Given the description of an element on the screen output the (x, y) to click on. 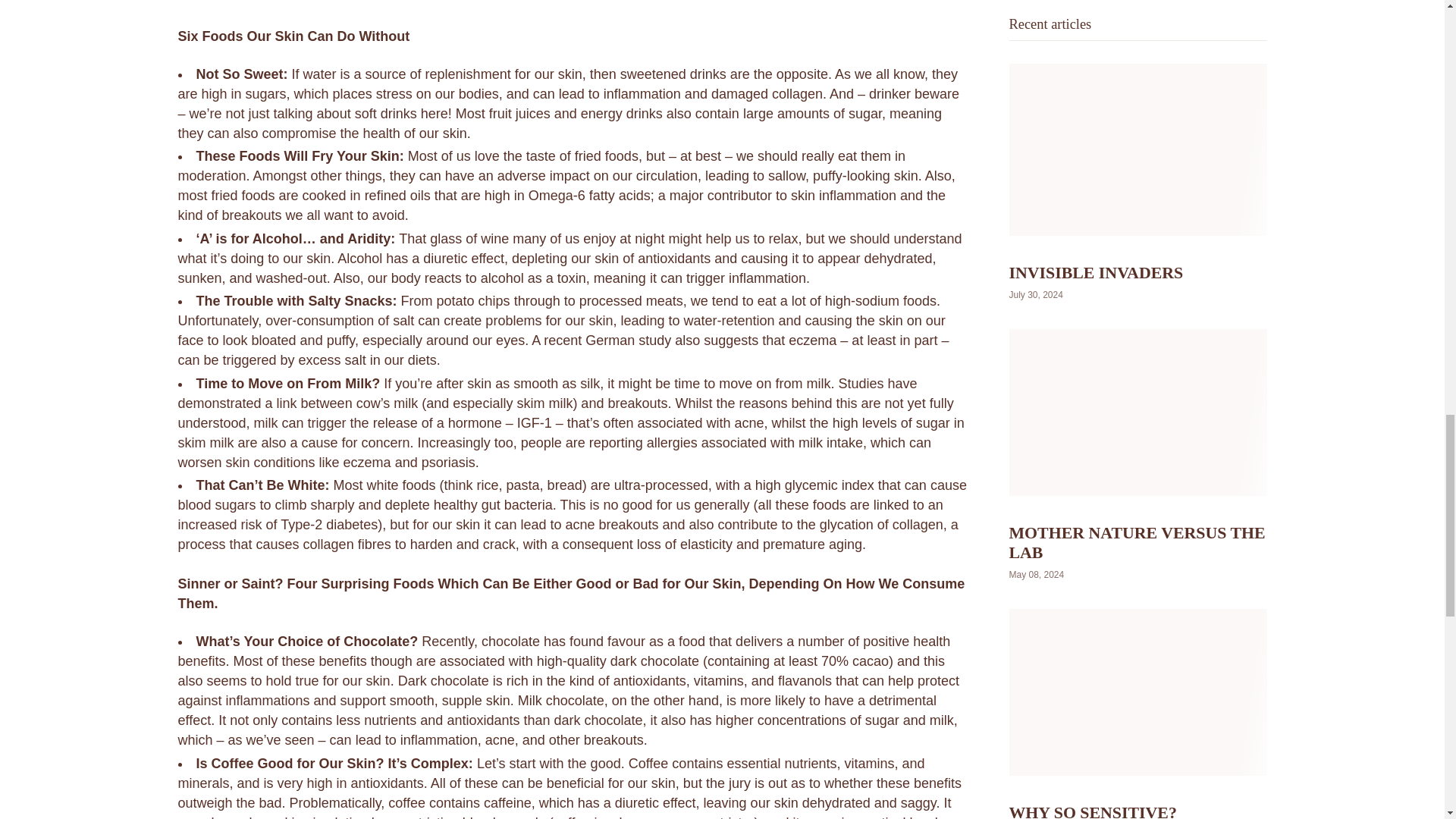
WHY SO SENSITIVE? (1092, 99)
